Given the description of an element on the screen output the (x, y) to click on. 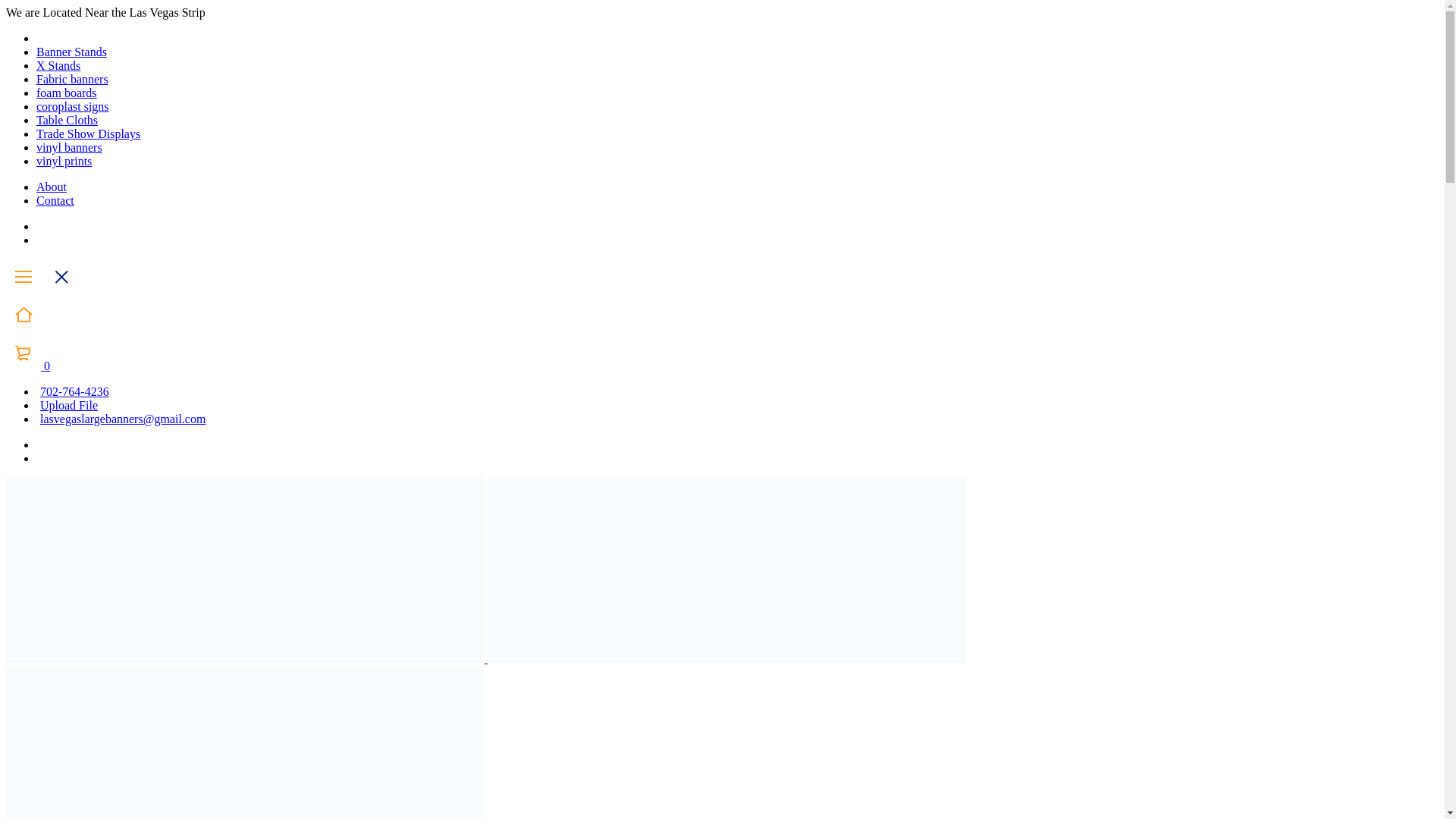
Contact (55, 200)
Fabric banners (71, 78)
vinyl prints (63, 160)
vinyl banners (68, 146)
Trade Show Displays (87, 133)
foam boards (66, 92)
X Stands (58, 65)
Las Vegas Large Banners (244, 569)
702-764-4236 (72, 391)
0 (27, 365)
